Given the description of an element on the screen output the (x, y) to click on. 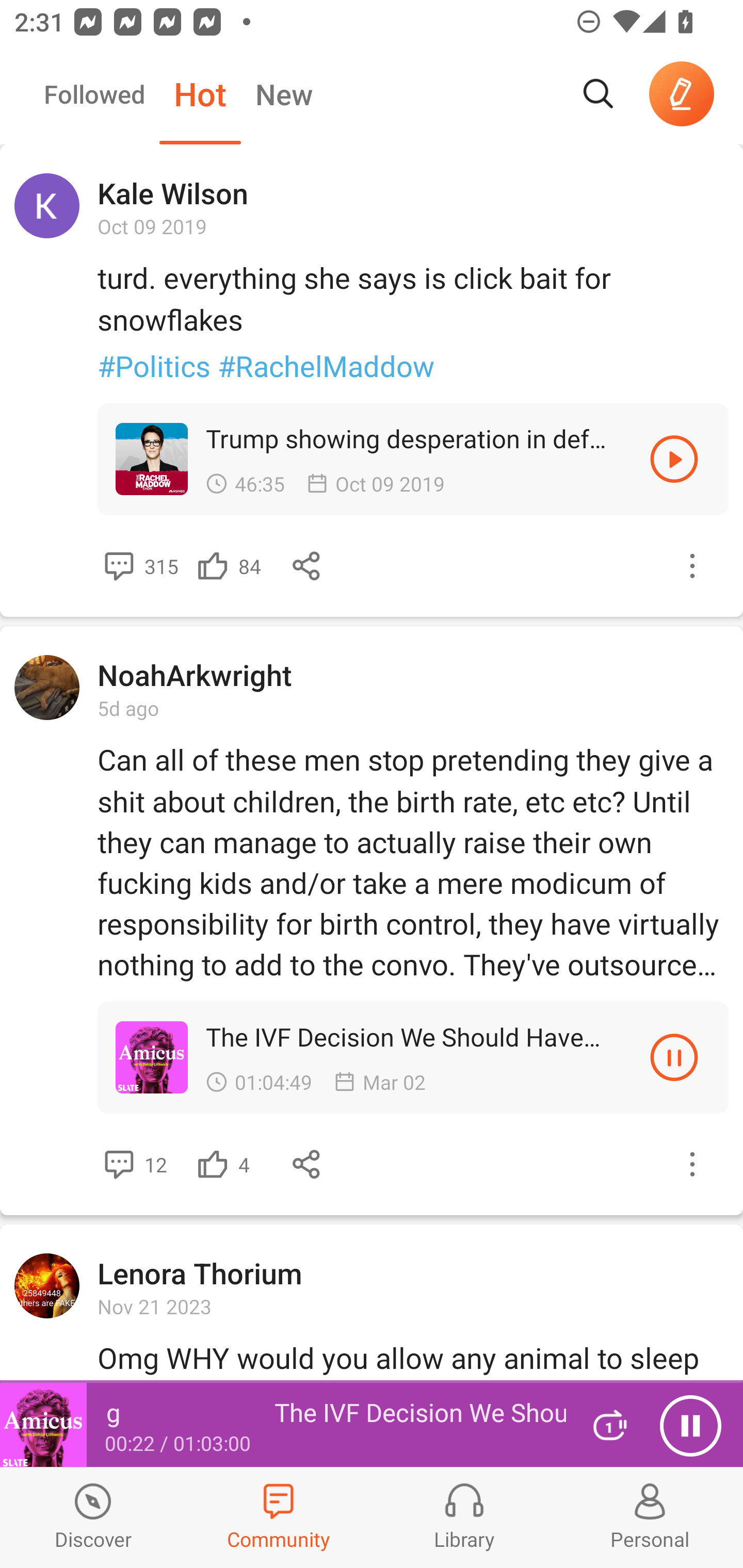
Followed (93, 93)
Hot (199, 93)
New (283, 93)
 (673, 458)
 (119, 565)
 (212, 565)
 (307, 565)
 (692, 565)
 (673, 1057)
 (119, 1164)
 (212, 1164)
 (307, 1164)
 (692, 1164)
Pause (690, 1425)
Discover (92, 1517)
Community (278, 1517)
Library (464, 1517)
Profiles and Settings Personal (650, 1517)
